Given the description of an element on the screen output the (x, y) to click on. 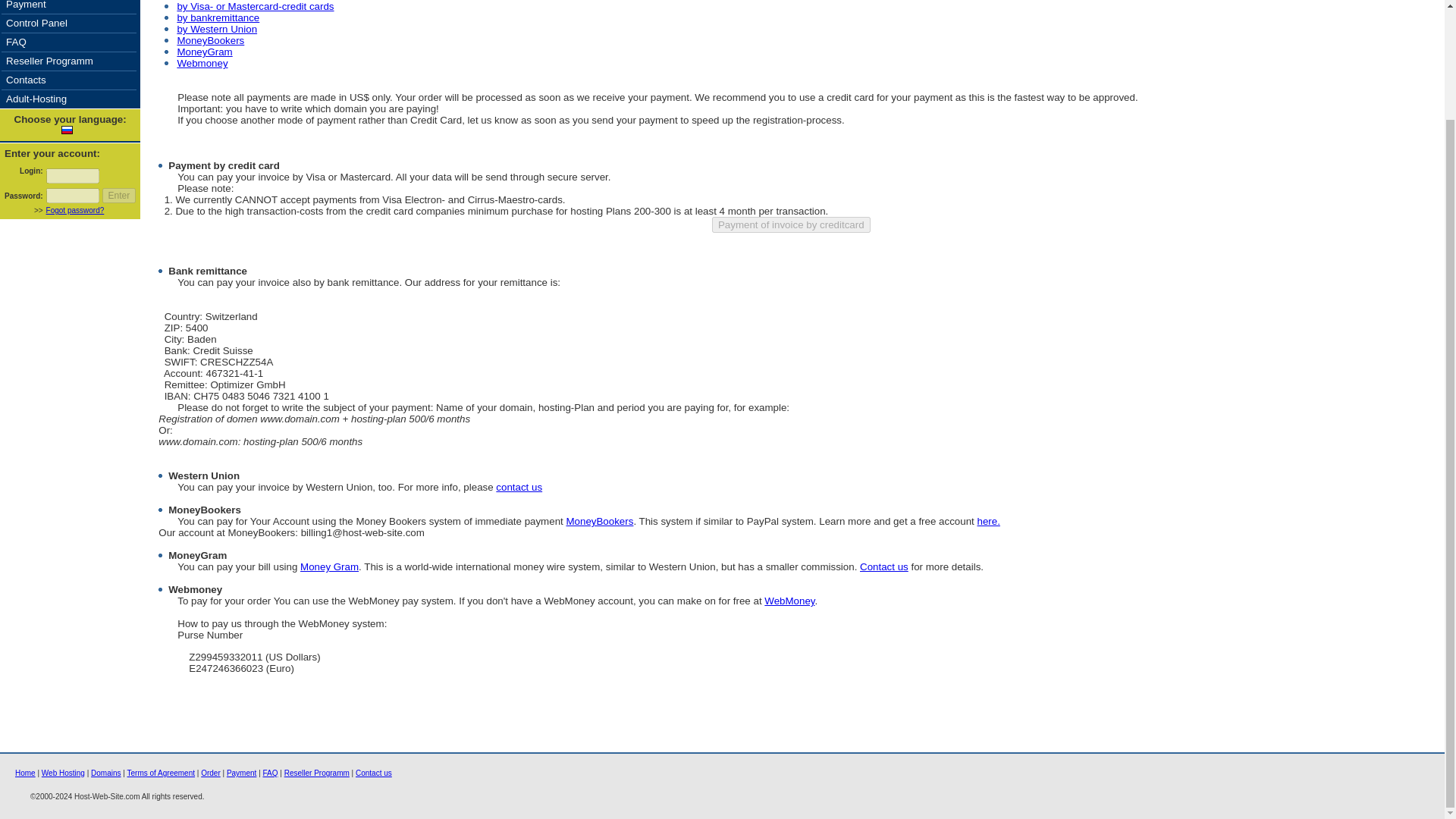
FAQ (270, 773)
MoneyGram (203, 51)
WebMoney (788, 600)
Webmoney (201, 62)
by bankremittance (217, 17)
by Western Union (216, 29)
Home (24, 773)
Contacts (25, 79)
Control Panel (35, 22)
contact us (518, 487)
